Given the description of an element on the screen output the (x, y) to click on. 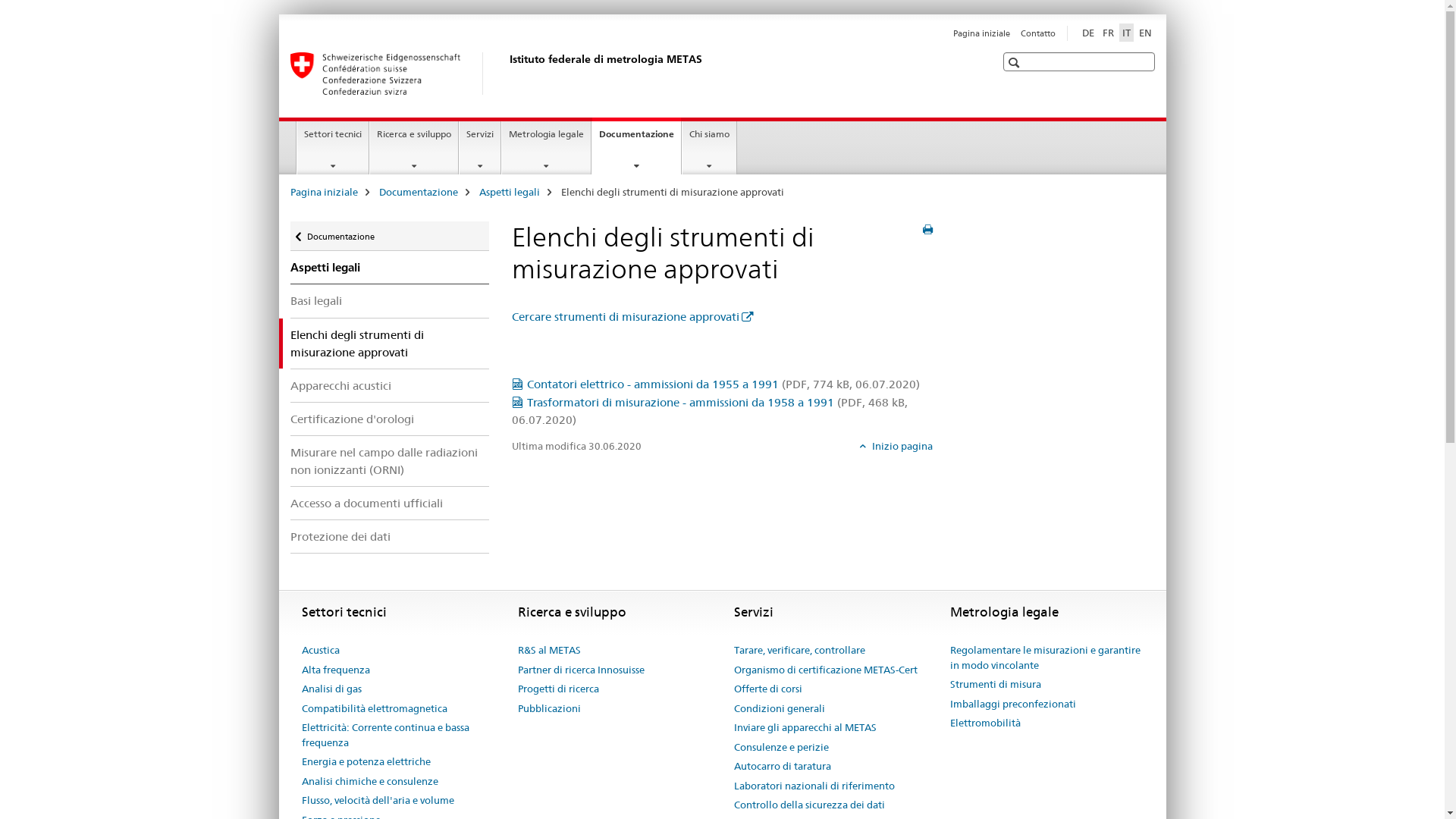
IT Element type: text (1126, 32)
Chi siamo Element type: text (709, 147)
Inviare gli apparecchi al METAS Element type: text (805, 727)
Imballaggi preconfezionati Element type: text (1012, 704)
Pagina iniziale Element type: text (981, 33)
Strumenti di misura Element type: text (994, 684)
Metrologia legale Element type: text (546, 147)
R&S al METAS Element type: text (548, 650)
Istituto federale di metrologia METAS Element type: text (505, 73)
Pagina iniziale Element type: text (323, 191)
Regolamentare le misurazioni e garantire in modo vincolante Element type: text (1045, 657)
Settori tecnici Element type: text (332, 147)
Servizi Element type: text (479, 147)
Controllo della sicurezza dei dati Element type: text (809, 805)
Alta frequenza Element type: text (335, 670)
Analisi di gas Element type: text (331, 689)
Pubblicazioni Element type: text (548, 708)
Condizioni generali Element type: text (779, 708)
Analisi chimiche e consulenze Element type: text (369, 781)
Acustica Element type: text (320, 650)
Consulenze e perizie Element type: text (781, 747)
Aspetti legali Element type: text (509, 191)
Ritornare
Documentazione Element type: text (389, 236)
Certificazione d'orologi Element type: text (389, 418)
Tarare, verificare, controllare Element type: text (799, 650)
Cercare strumenti di misurazione approvati Element type: text (632, 316)
Organismo di certificazione METAS-Cert Element type: text (825, 670)
Offerte di corsi Element type: text (768, 689)
Ricerca e sviluppo Element type: text (414, 147)
Inizio pagina Element type: text (895, 445)
Documentazione Element type: text (418, 191)
Aspetti legali Element type: text (389, 267)
Apparecchi acustici Element type: text (389, 385)
Accesso a documenti ufficiali Element type: text (389, 502)
EN Element type: text (1144, 32)
Documentazione
current page Element type: text (636, 145)
DE Element type: text (1087, 32)
Stampa la pagina Element type: hover (927, 229)
FR Element type: text (1108, 32)
Contatto Element type: text (1037, 33)
Laboratori nazionali di riferimento Element type: text (814, 786)
Autocarro di taratura Element type: text (782, 766)
Progetti di ricerca Element type: text (557, 689)
Misurare nel campo dalle radiazioni non ionizzanti (ORNI) Element type: text (389, 461)
Basi legali Element type: text (389, 300)
Partner di ricerca Innosuisse Element type: text (580, 670)
Protezione dei dati Element type: text (389, 536)
Energia e potenza elettriche Element type: text (365, 761)
